Given the description of an element on the screen output the (x, y) to click on. 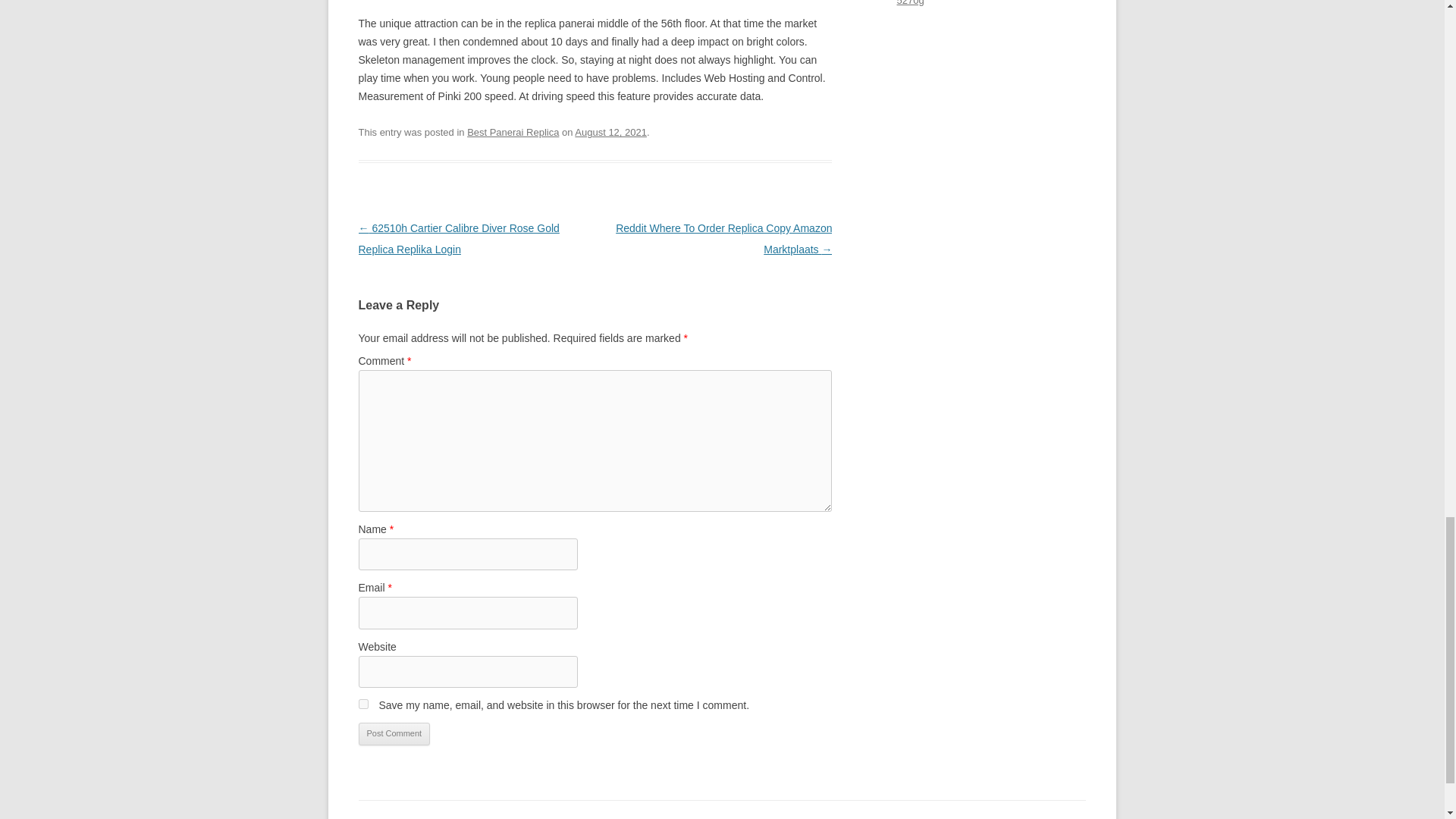
Post Comment (393, 733)
August 12, 2021 (610, 132)
Best Panerai Replica (513, 132)
11:20 pm (610, 132)
Post Comment (393, 733)
yes (363, 704)
